Given the description of an element on the screen output the (x, y) to click on. 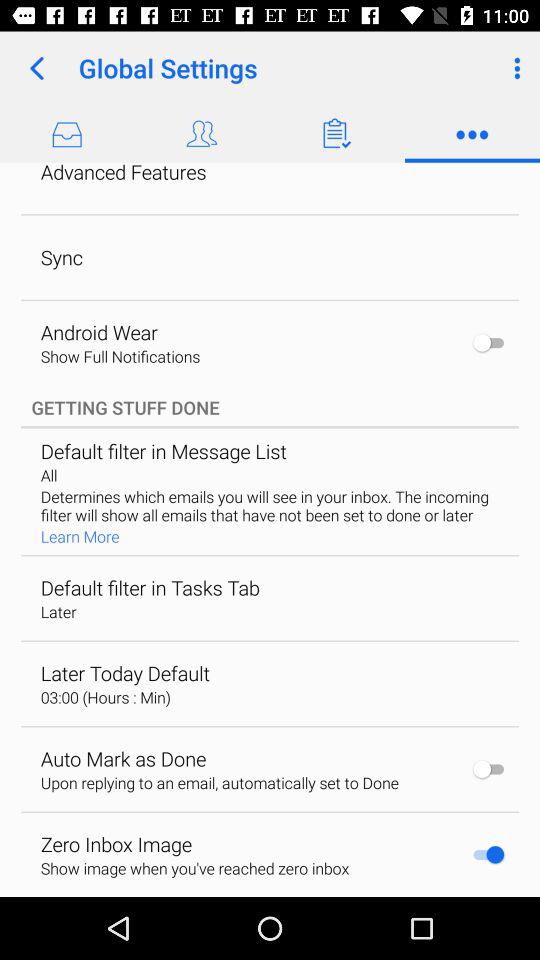
turn off the android wear (98, 332)
